Given the description of an element on the screen output the (x, y) to click on. 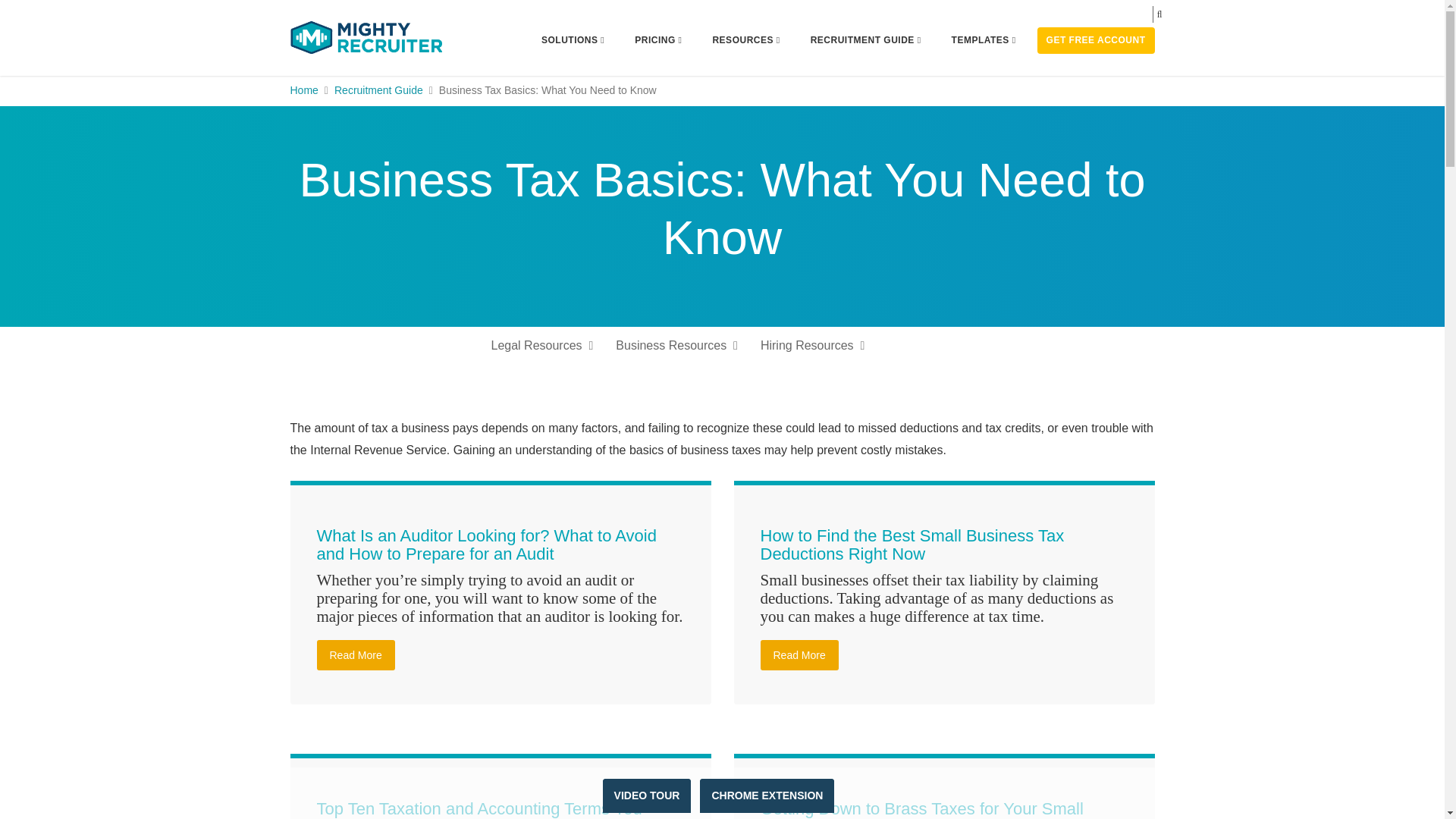
PRICING (658, 40)
TEMPLATES (983, 40)
Legal Resources   (541, 345)
MightyRecruiter (365, 36)
Recruitment Guide (378, 90)
MightyRecruiter (365, 37)
SOLUTIONS (572, 40)
GET FREE ACCOUNT (1095, 40)
RESOURCES (745, 40)
Home (303, 90)
RECRUITMENT GUIDE (866, 40)
Business Resources   (676, 345)
